Given the description of an element on the screen output the (x, y) to click on. 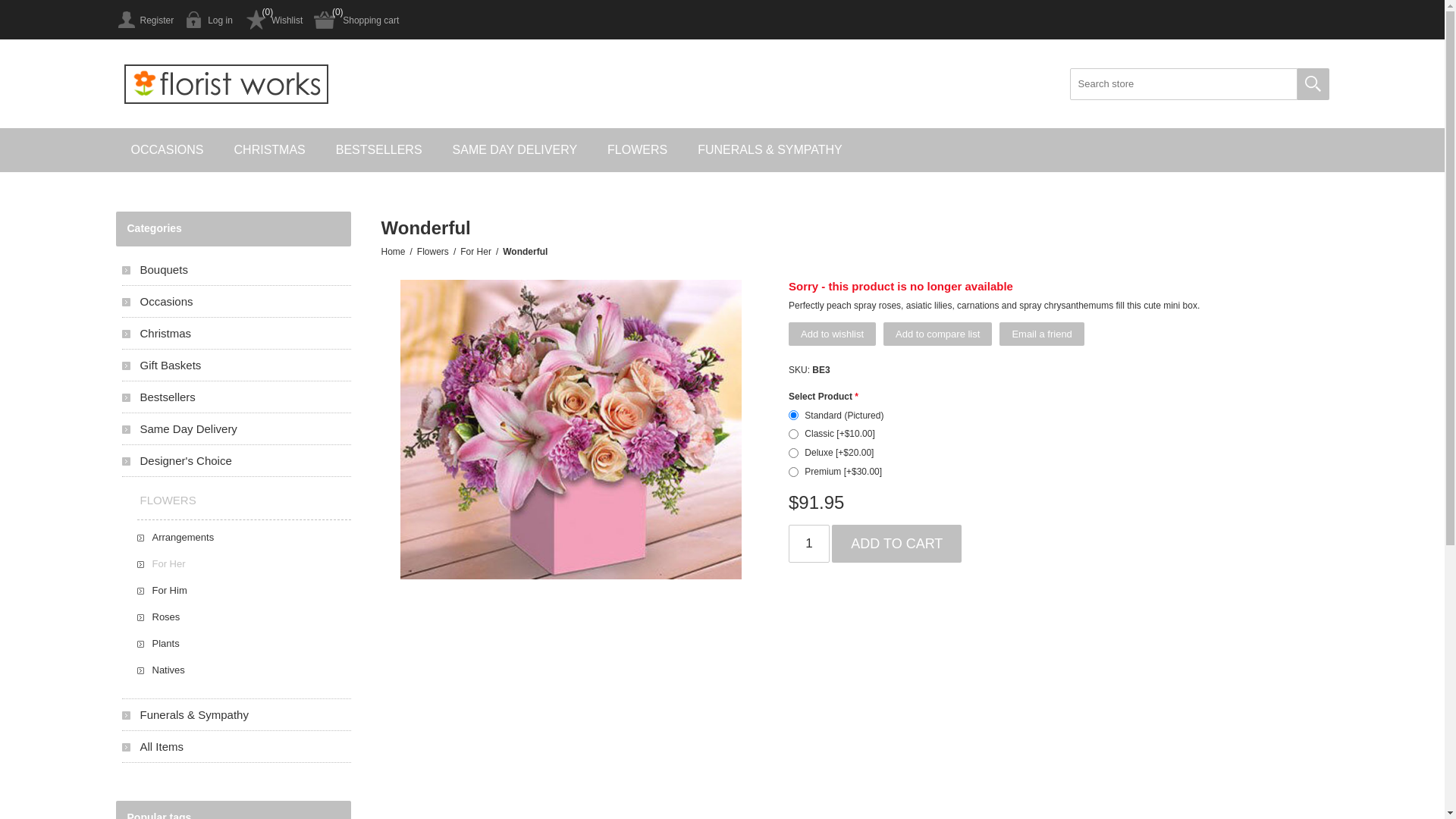
Register Element type: text (144, 19)
Same Day Delivery Element type: text (235, 428)
CHRISTMAS Element type: text (269, 150)
Gift Baskets Element type: text (235, 364)
Add to compare list Element type: text (937, 333)
Arrangements Element type: text (243, 537)
Search Element type: text (1312, 84)
Email a friend Element type: text (1041, 333)
Shopping cart Element type: text (355, 19)
Plants Element type: text (243, 643)
Bestsellers Element type: text (235, 396)
FUNERALS & SYMPATHY Element type: text (769, 150)
Add to cart Element type: text (896, 543)
Bouquets Element type: text (235, 269)
BESTSELLERS Element type: text (378, 150)
For Him Element type: text (243, 590)
Funerals & Sympathy Element type: text (235, 714)
Log in Element type: text (208, 19)
Wishlist Element type: text (273, 19)
Roses Element type: text (243, 616)
Flowers Element type: text (432, 251)
Occasions Element type: text (235, 300)
Add to wishlist Element type: text (831, 333)
SAME DAY DELIVERY Element type: text (515, 150)
Picture of Wonderful Element type: hover (570, 429)
FLOWERS Element type: text (235, 499)
For Her Element type: text (243, 563)
Christmas Element type: text (235, 332)
OCCASIONS Element type: text (166, 150)
Natives Element type: text (243, 669)
Home Element type: text (392, 251)
For Her Element type: text (475, 251)
Designer's Choice Element type: text (235, 460)
All Items Element type: text (235, 746)
FLOWERS Element type: text (637, 150)
